Given the description of an element on the screen output the (x, y) to click on. 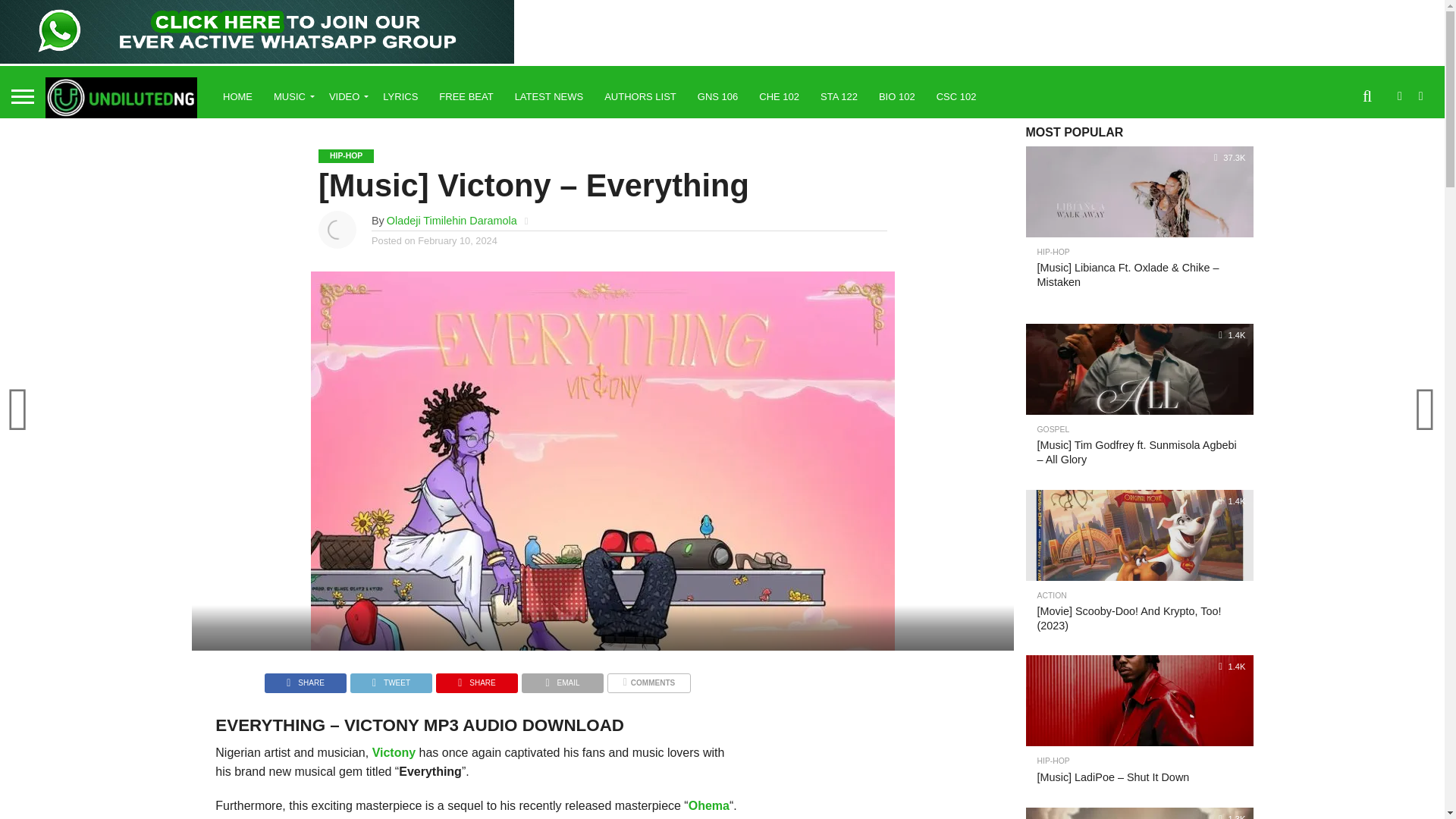
Pin This Post (476, 678)
Share on Facebook (305, 678)
MUSIC (290, 95)
Posts by Oladeji Timilehin Daramola (451, 220)
HOME (237, 95)
Tweet This Post (390, 678)
VIDEO (345, 95)
